Given the description of an element on the screen output the (x, y) to click on. 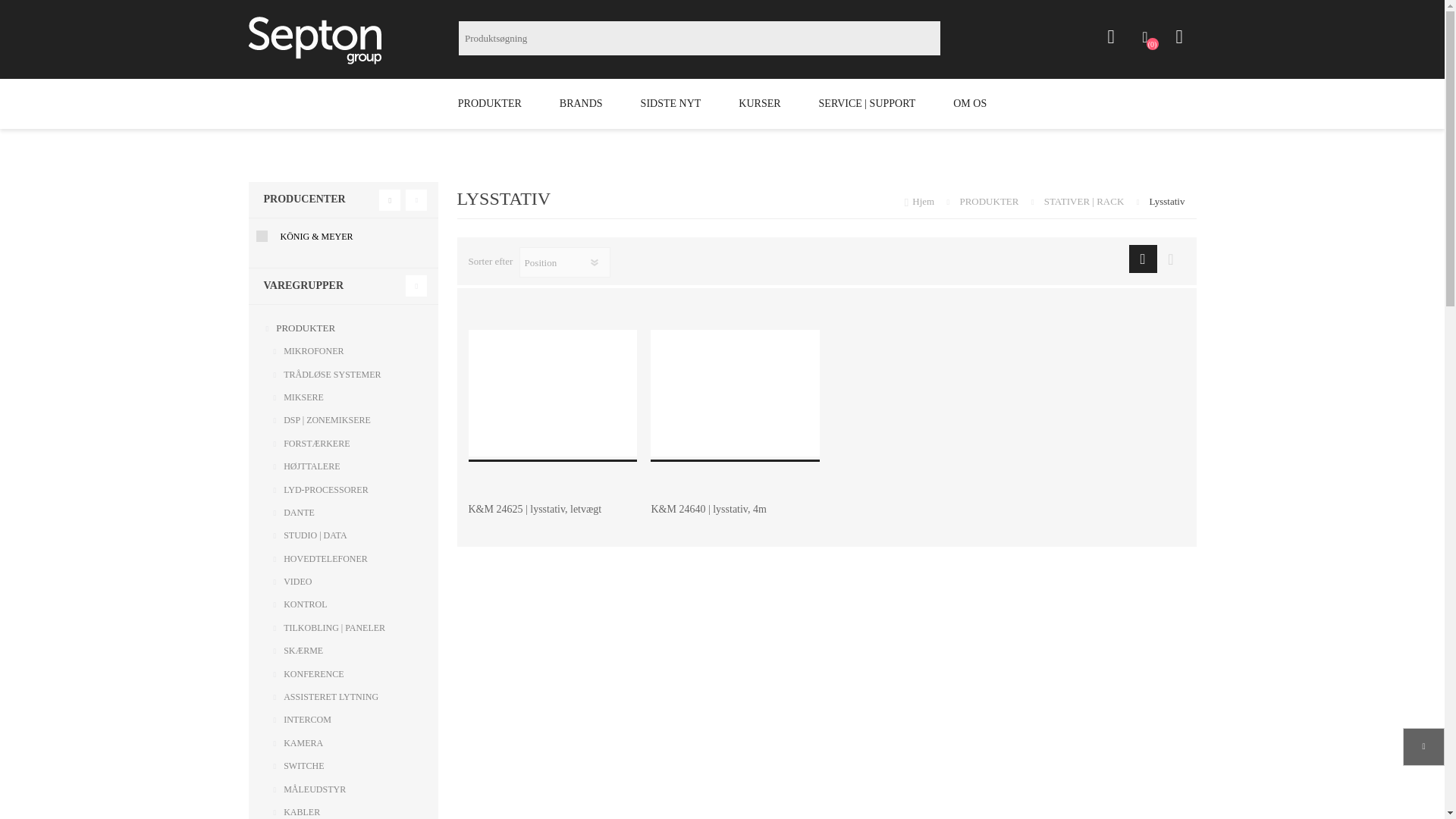
Varekurv (1178, 37)
PRODUKTER (489, 103)
